Given the description of an element on the screen output the (x, y) to click on. 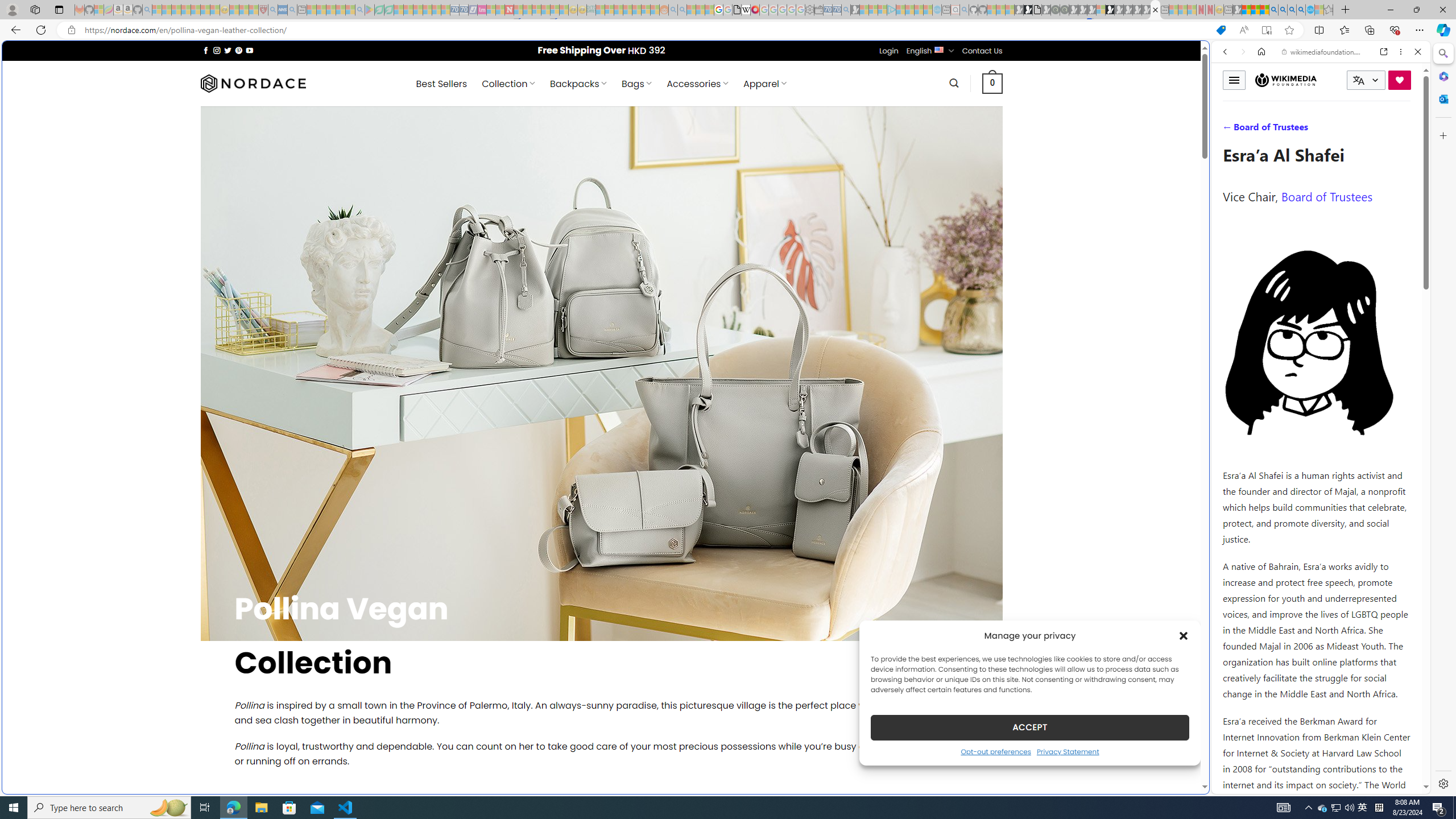
Follow on Pinterest (237, 49)
 0  (992, 83)
